Given the description of an element on the screen output the (x, y) to click on. 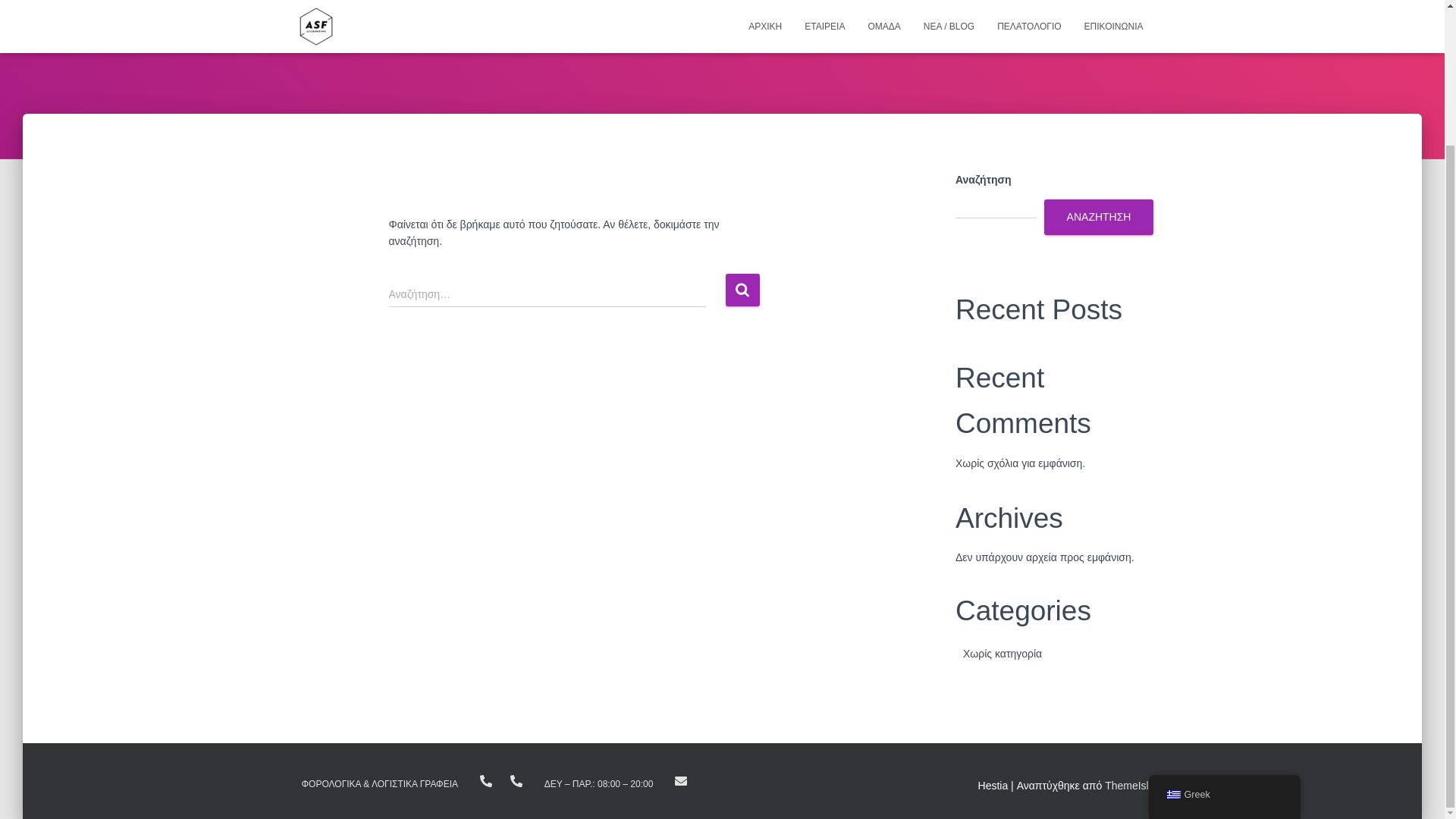
Greek (1172, 628)
ThemeIsle (1129, 785)
Greek (1224, 628)
